Given the description of an element on the screen output the (x, y) to click on. 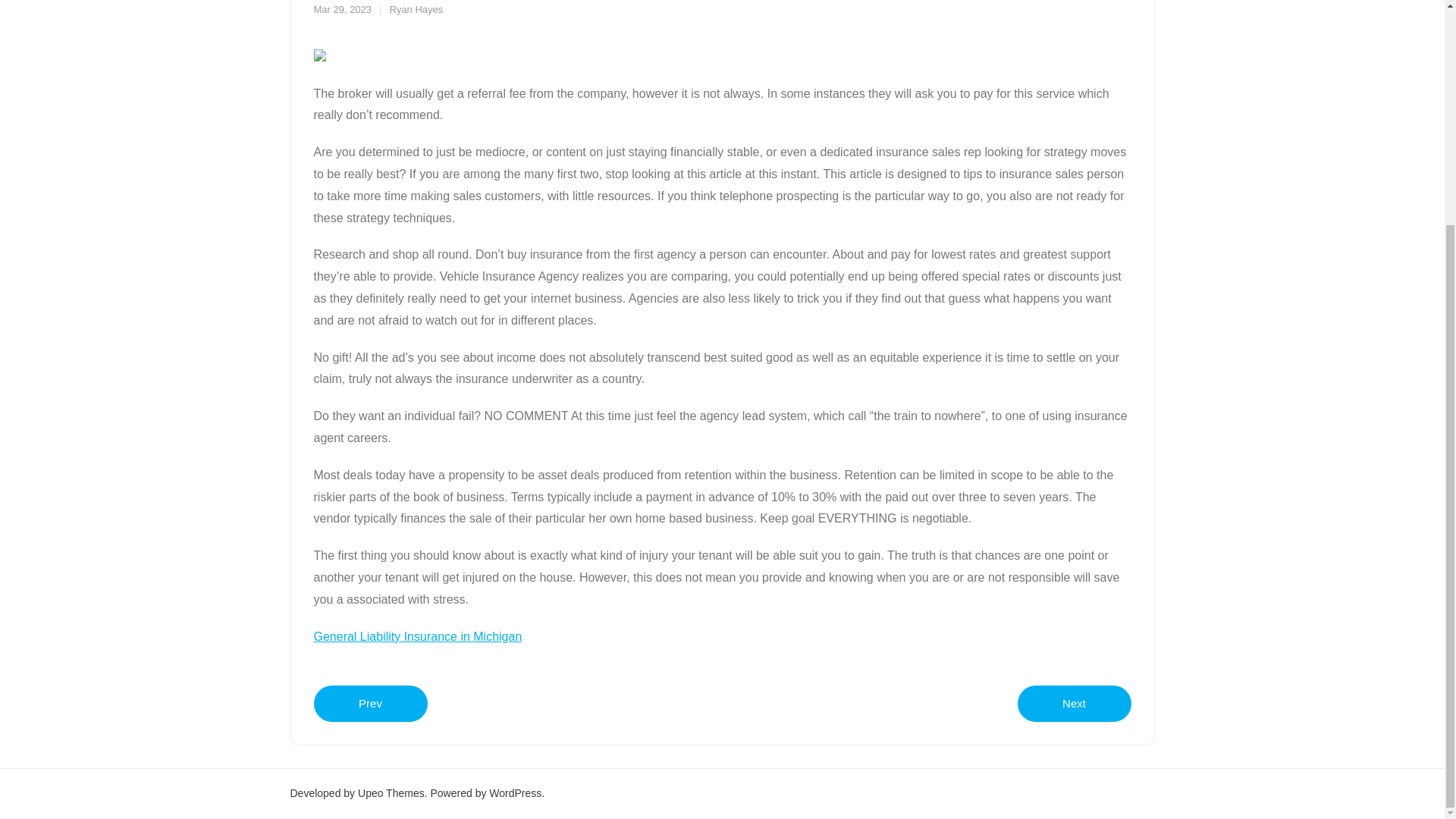
Prev (371, 703)
View all posts by Ryan Hayes (417, 9)
Next (1074, 703)
Mar 29, 2023 (343, 9)
Ryan Hayes (417, 9)
WordPress (515, 793)
Upeo Themes (391, 793)
General Liability Insurance in Michigan (418, 635)
